Given the description of an element on the screen output the (x, y) to click on. 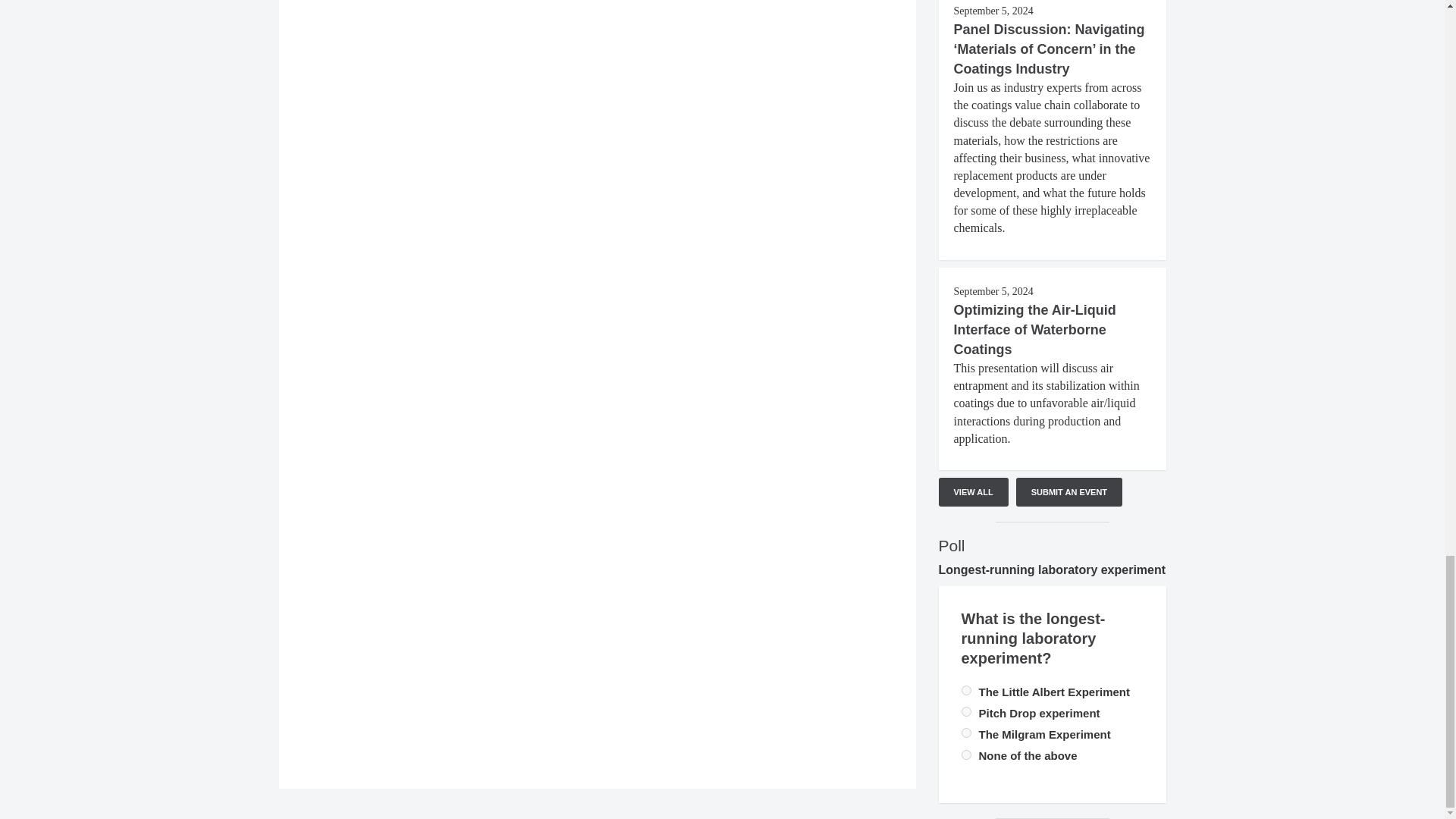
230 (965, 711)
232 (965, 732)
233 (965, 690)
Optimizing the Air-Liquid Interface of Waterborne Coatings (1034, 329)
231 (965, 755)
